Given the description of an element on the screen output the (x, y) to click on. 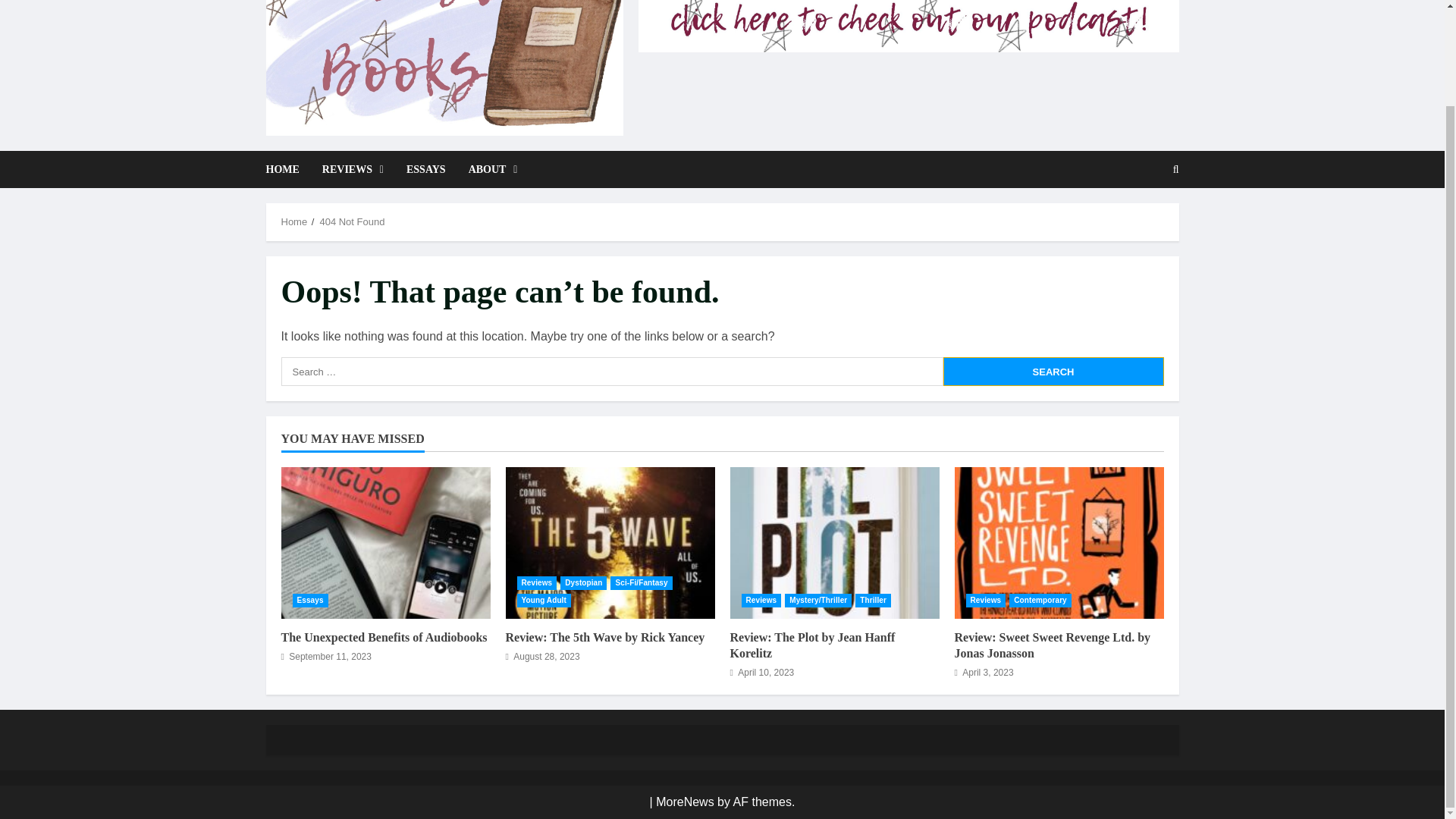
Search (1053, 371)
ABOUT (487, 169)
Search (1053, 371)
REVIEWS (352, 169)
ESSAYS (425, 169)
HOME (287, 169)
